Given the description of an element on the screen output the (x, y) to click on. 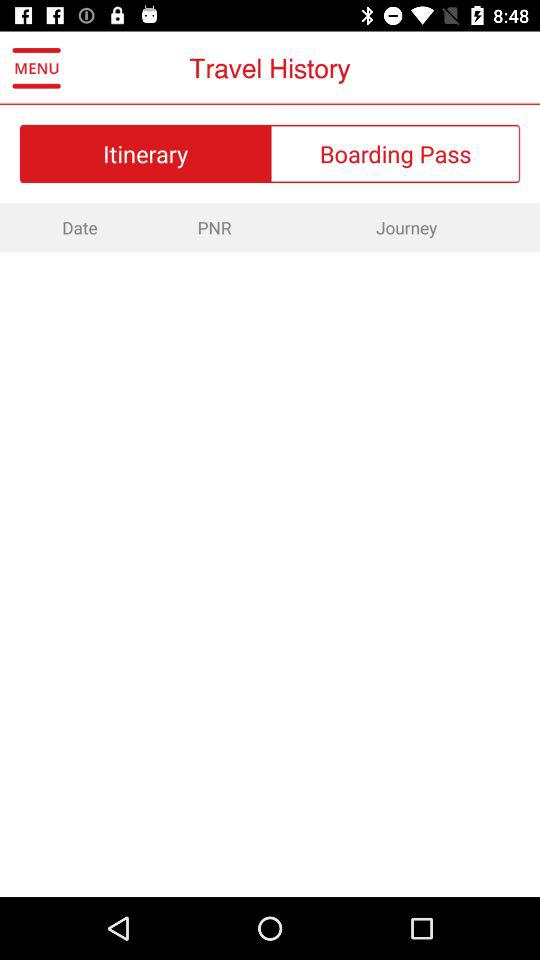
turn off the item above the journey item (395, 153)
